Given the description of an element on the screen output the (x, y) to click on. 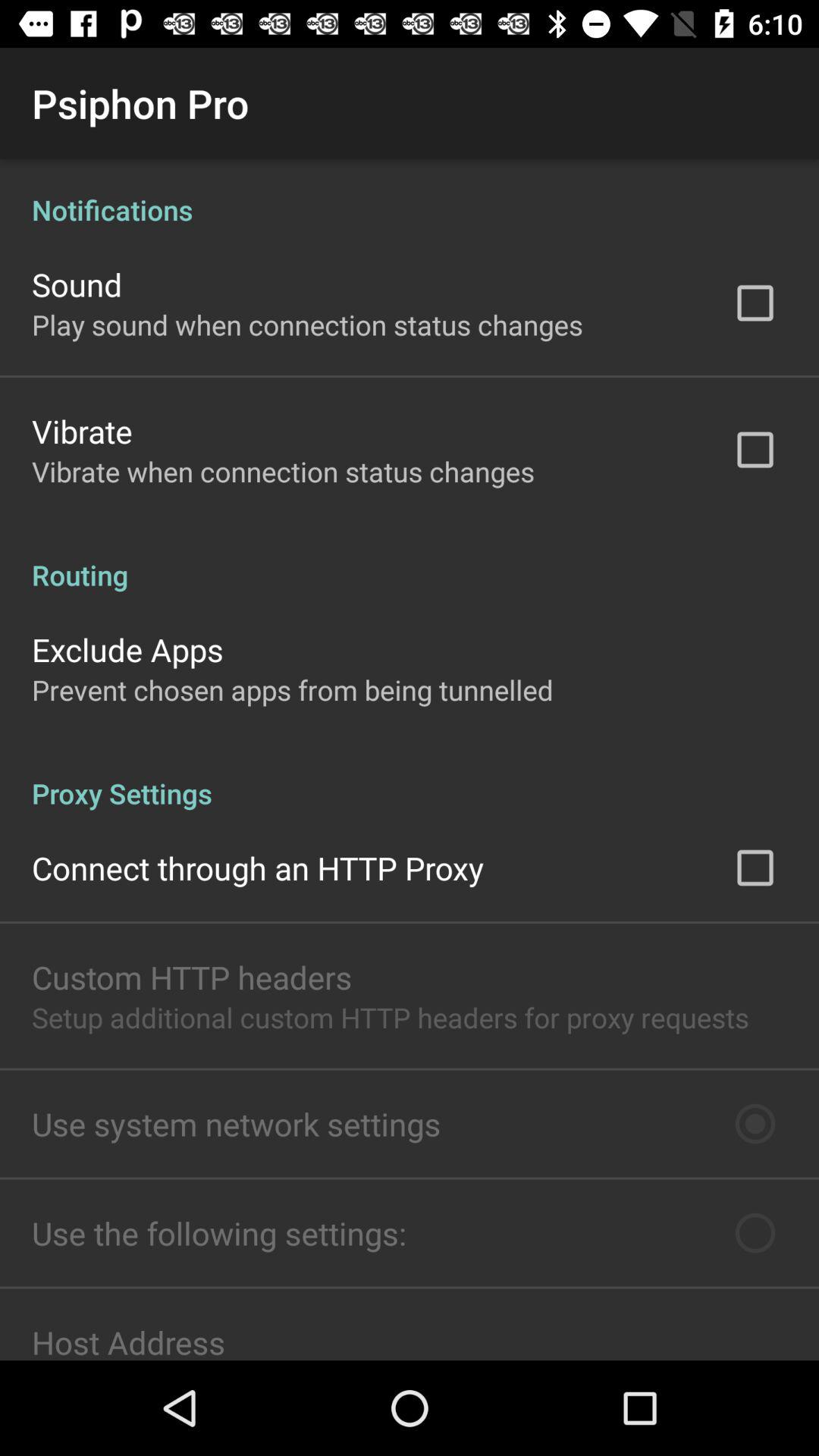
tap app below the routing icon (127, 649)
